Given the description of an element on the screen output the (x, y) to click on. 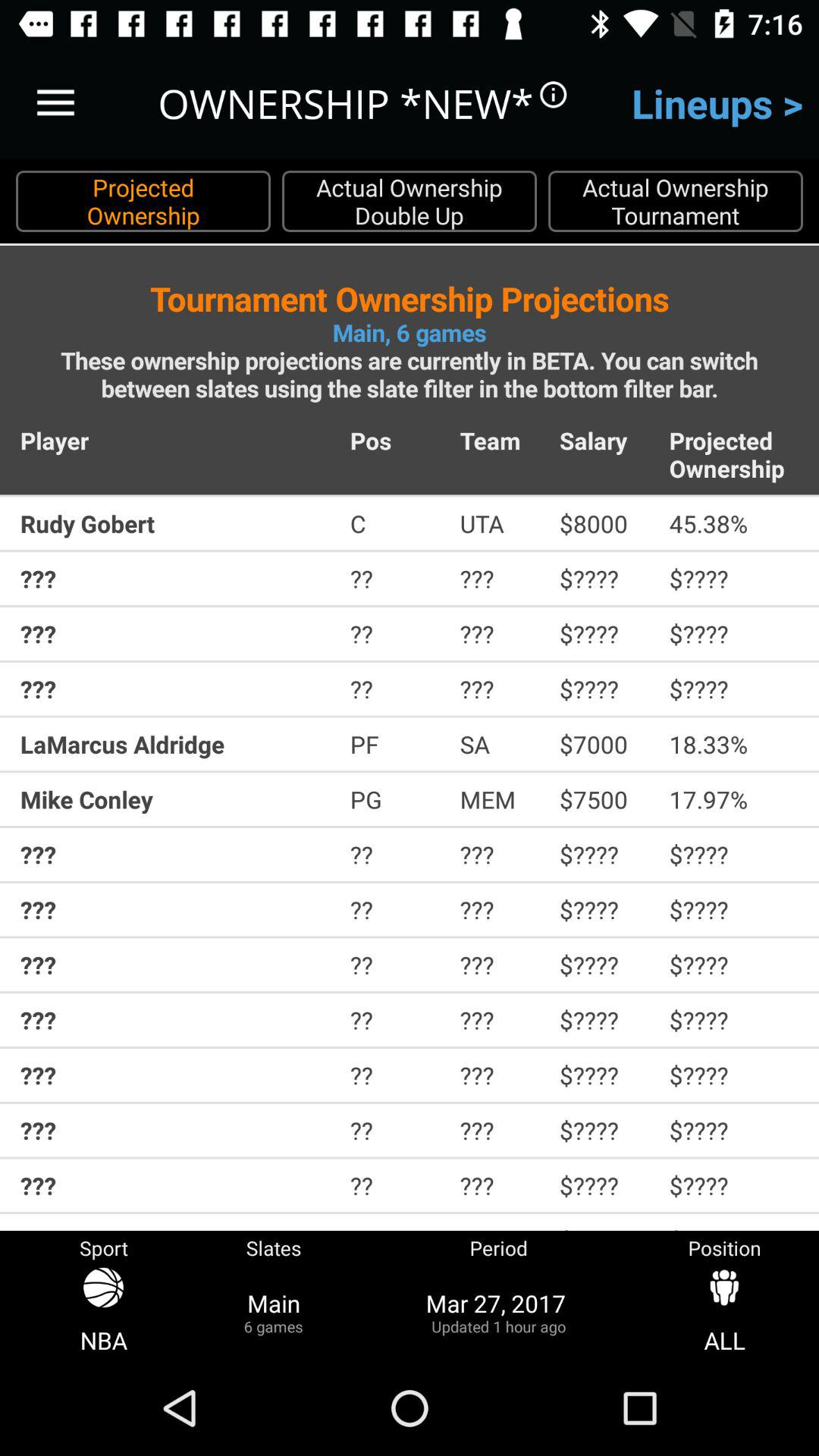
launch icon to the left of team item (394, 440)
